Given the description of an element on the screen output the (x, y) to click on. 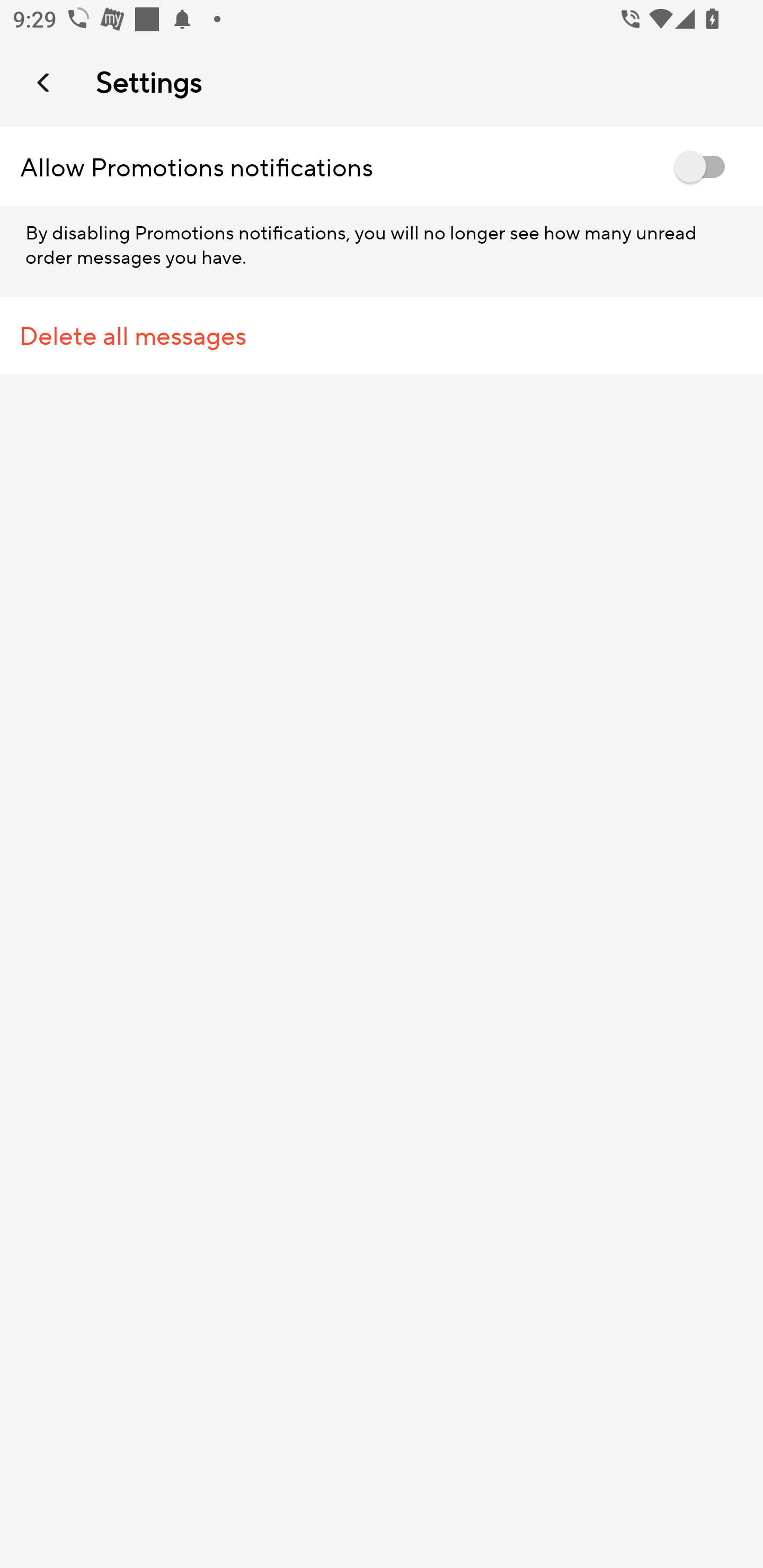
Navigate up (44, 82)
Delete all messages (381, 335)
